Given the description of an element on the screen output the (x, y) to click on. 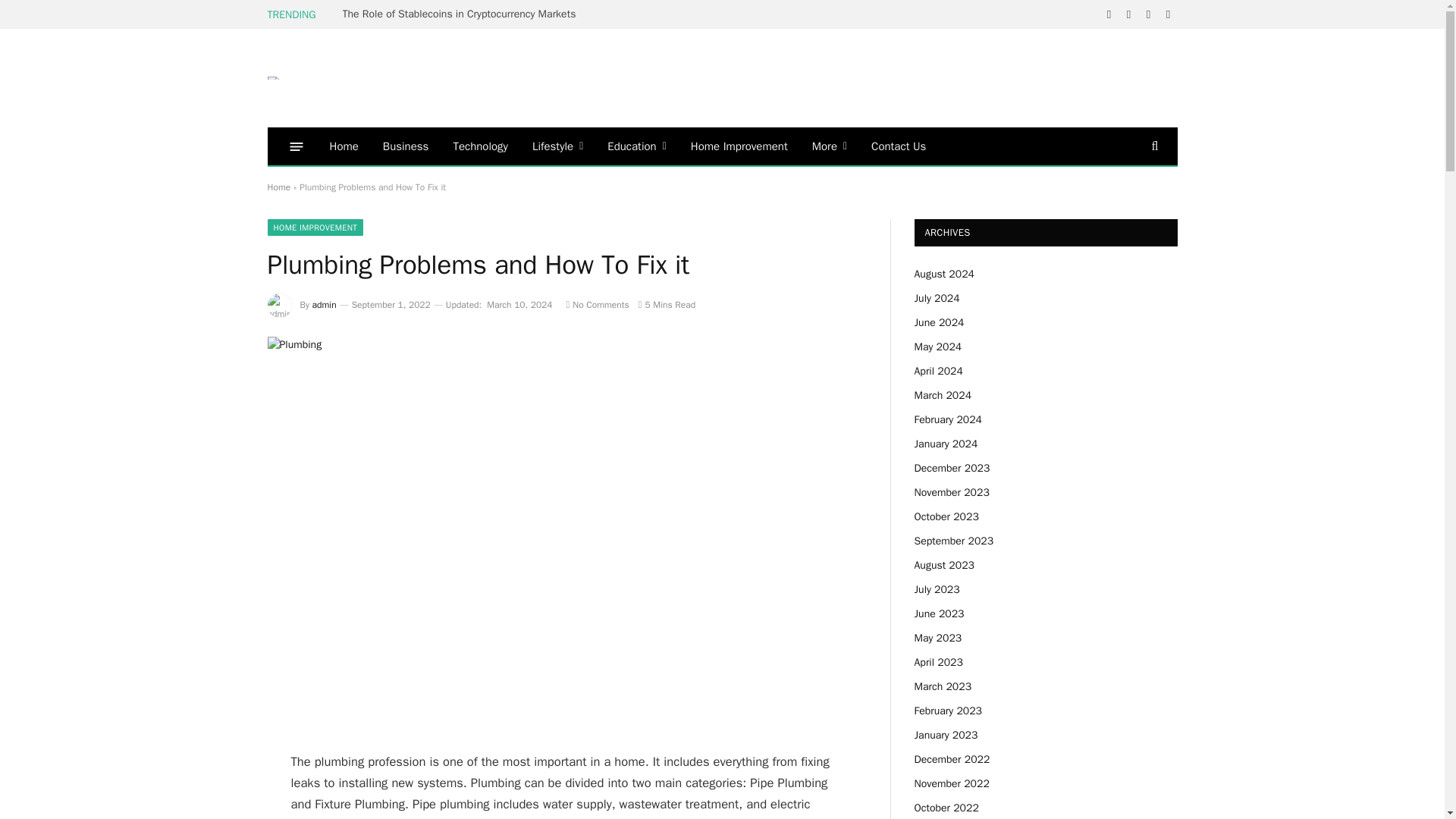
Technology (480, 146)
The Role of Stablecoins in Cryptocurrency Markets (462, 14)
Posts by admin (324, 304)
Education (636, 146)
Lifestyle (557, 146)
Home (343, 146)
Business (406, 146)
